Given the description of an element on the screen output the (x, y) to click on. 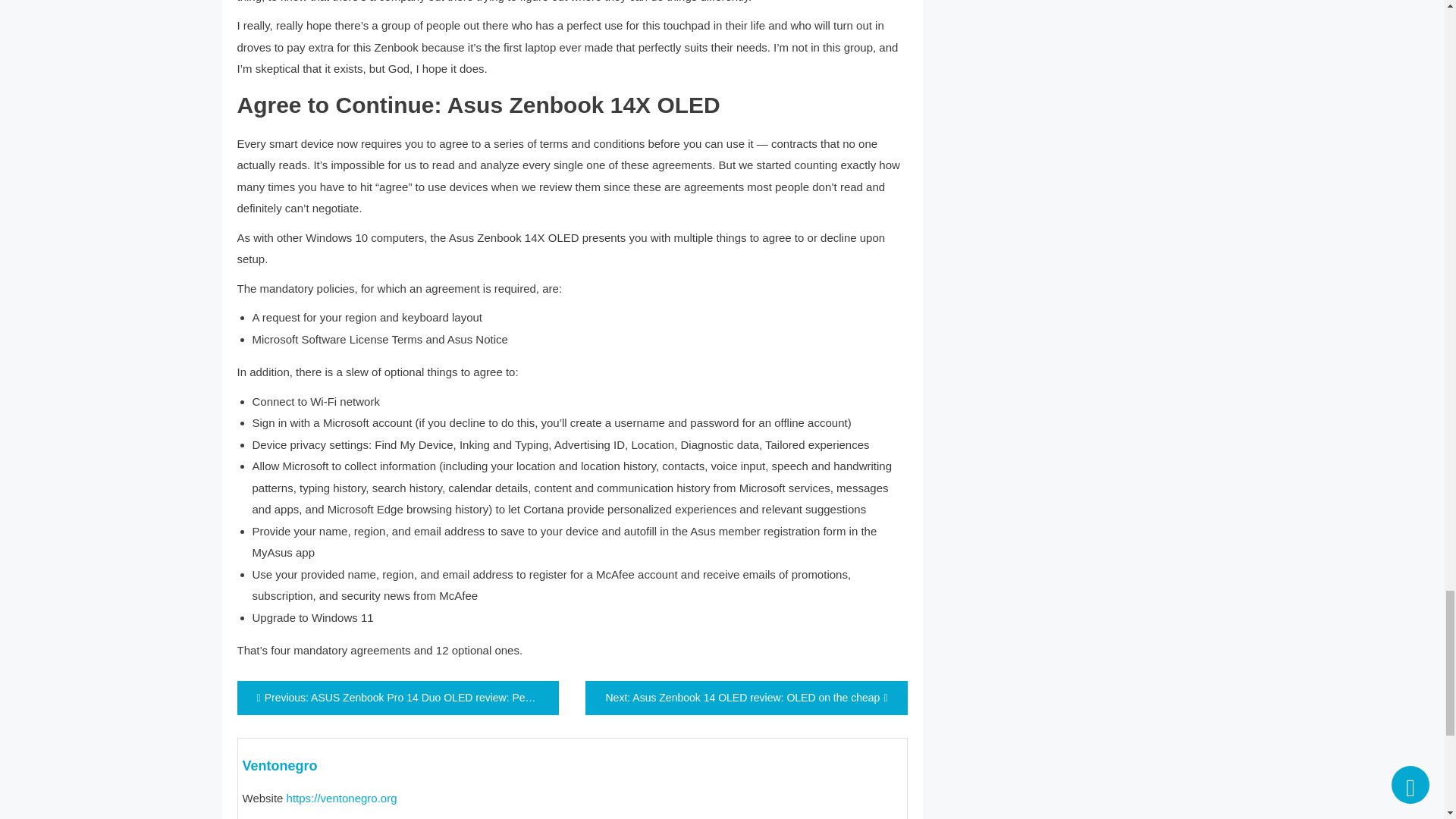
Ventonegro (280, 765)
Posts by Ventonegro (280, 765)
Next: Asus Zenbook 14 OLED review: OLED on the cheap (746, 697)
